Given the description of an element on the screen output the (x, y) to click on. 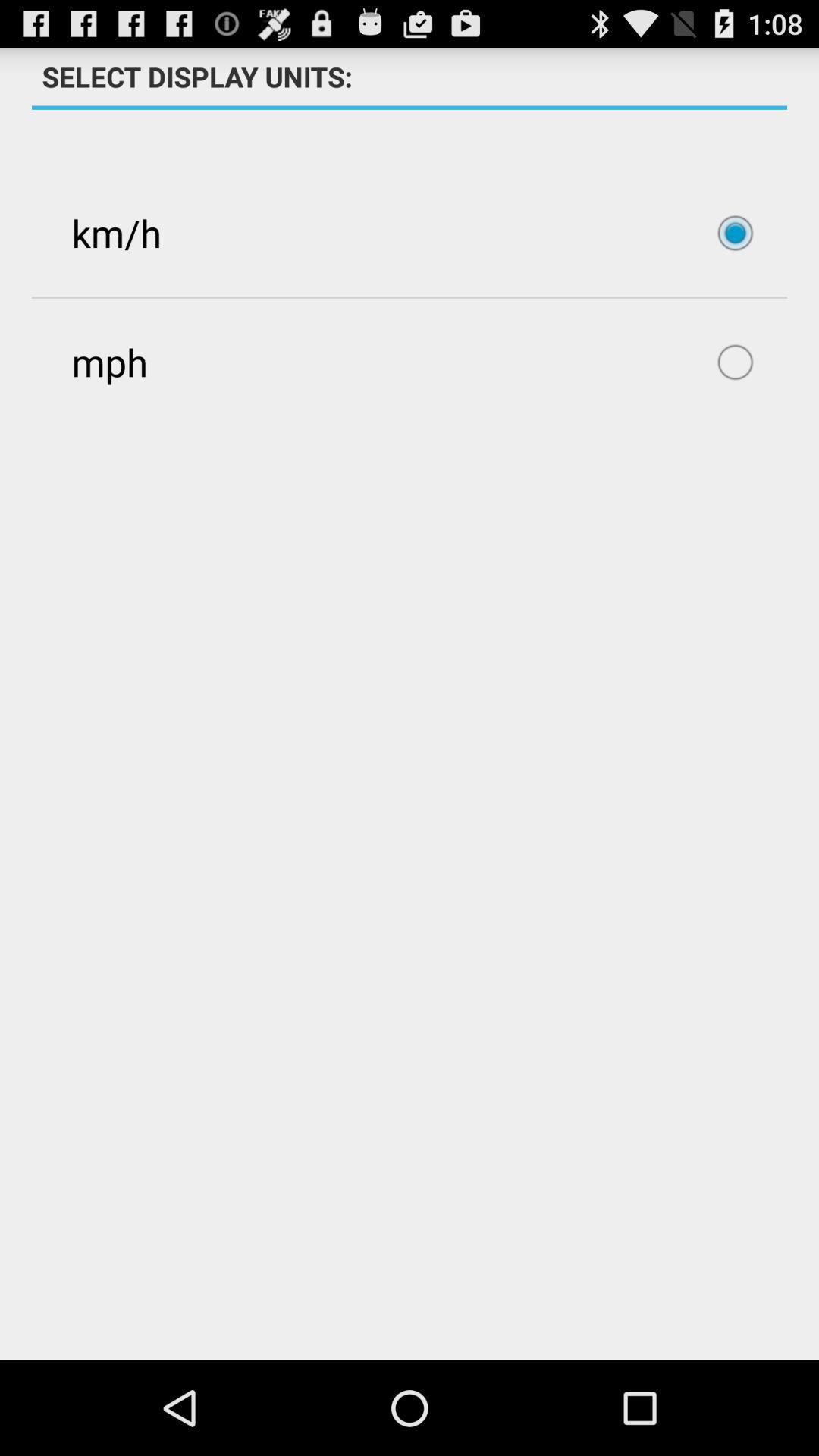
open mph icon (409, 361)
